Given the description of an element on the screen output the (x, y) to click on. 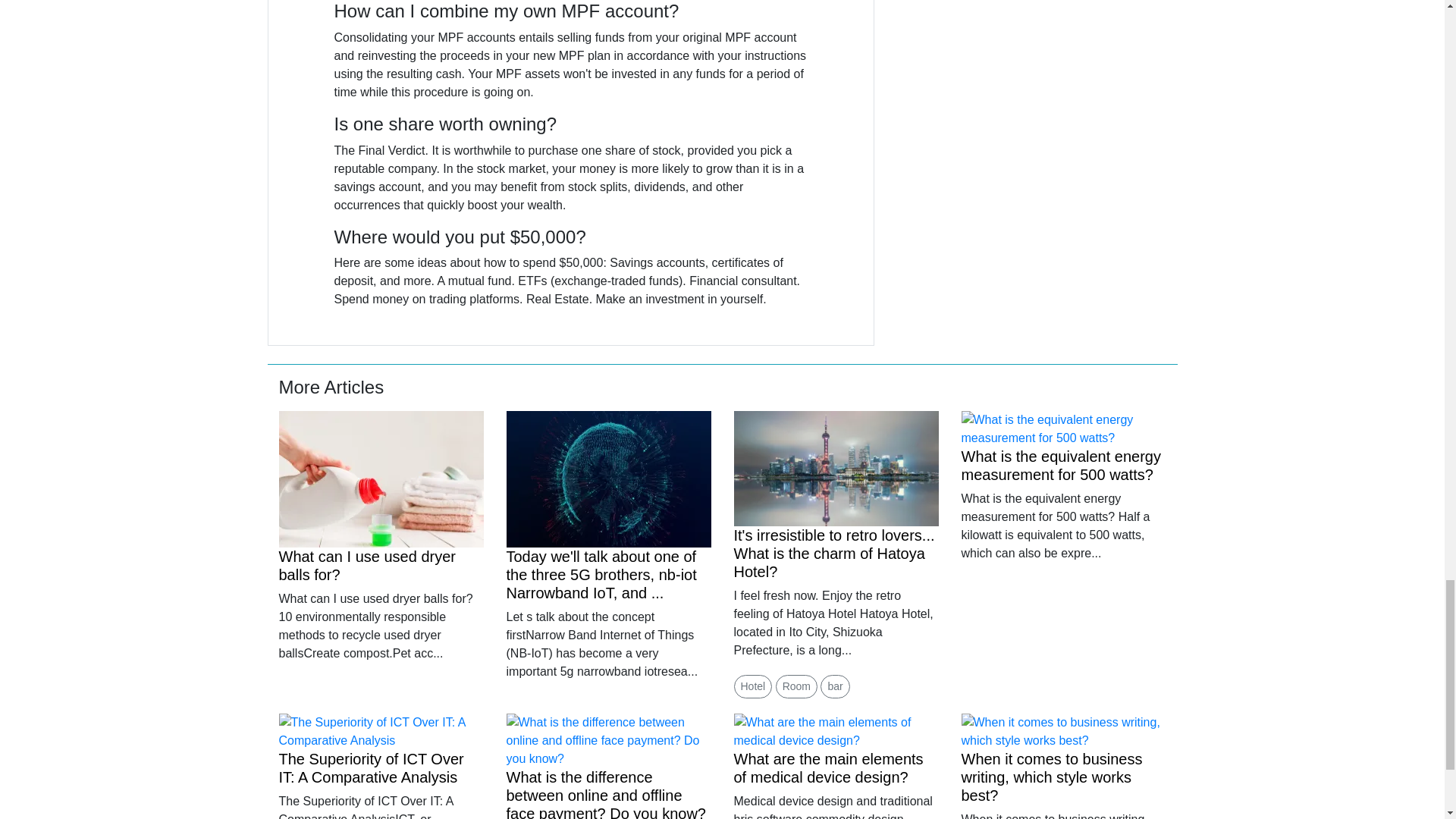
bar (834, 686)
Room (796, 686)
Hotel (753, 686)
The Superiority of ICT Over IT: A Comparative Analysis (371, 768)
What is the equivalent energy measurement for 500 watts? (1060, 465)
What can I use used dryer balls for? (367, 565)
